Given the description of an element on the screen output the (x, y) to click on. 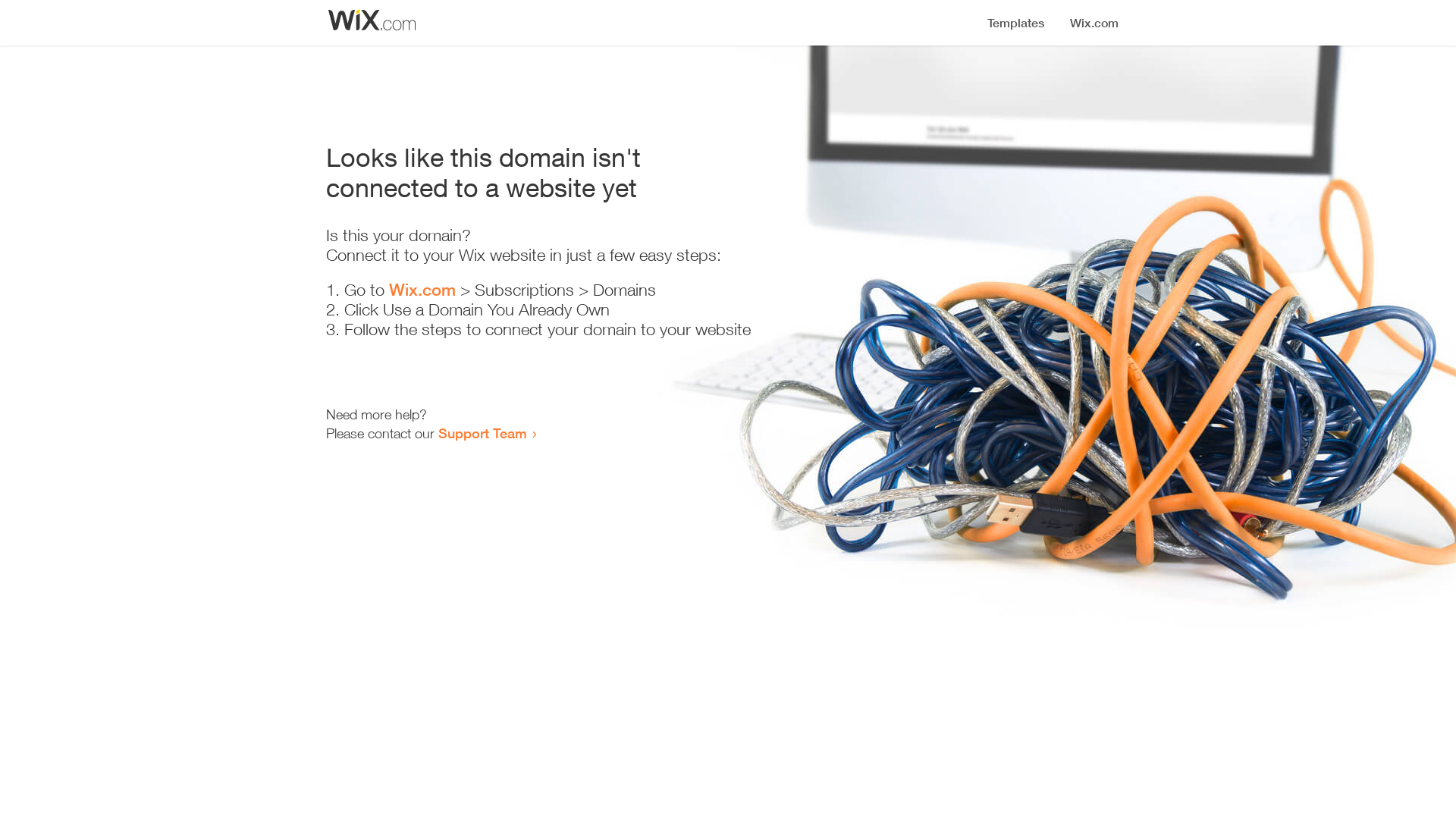
Support Team Element type: text (482, 432)
Wix.com Element type: text (422, 289)
